Given the description of an element on the screen output the (x, y) to click on. 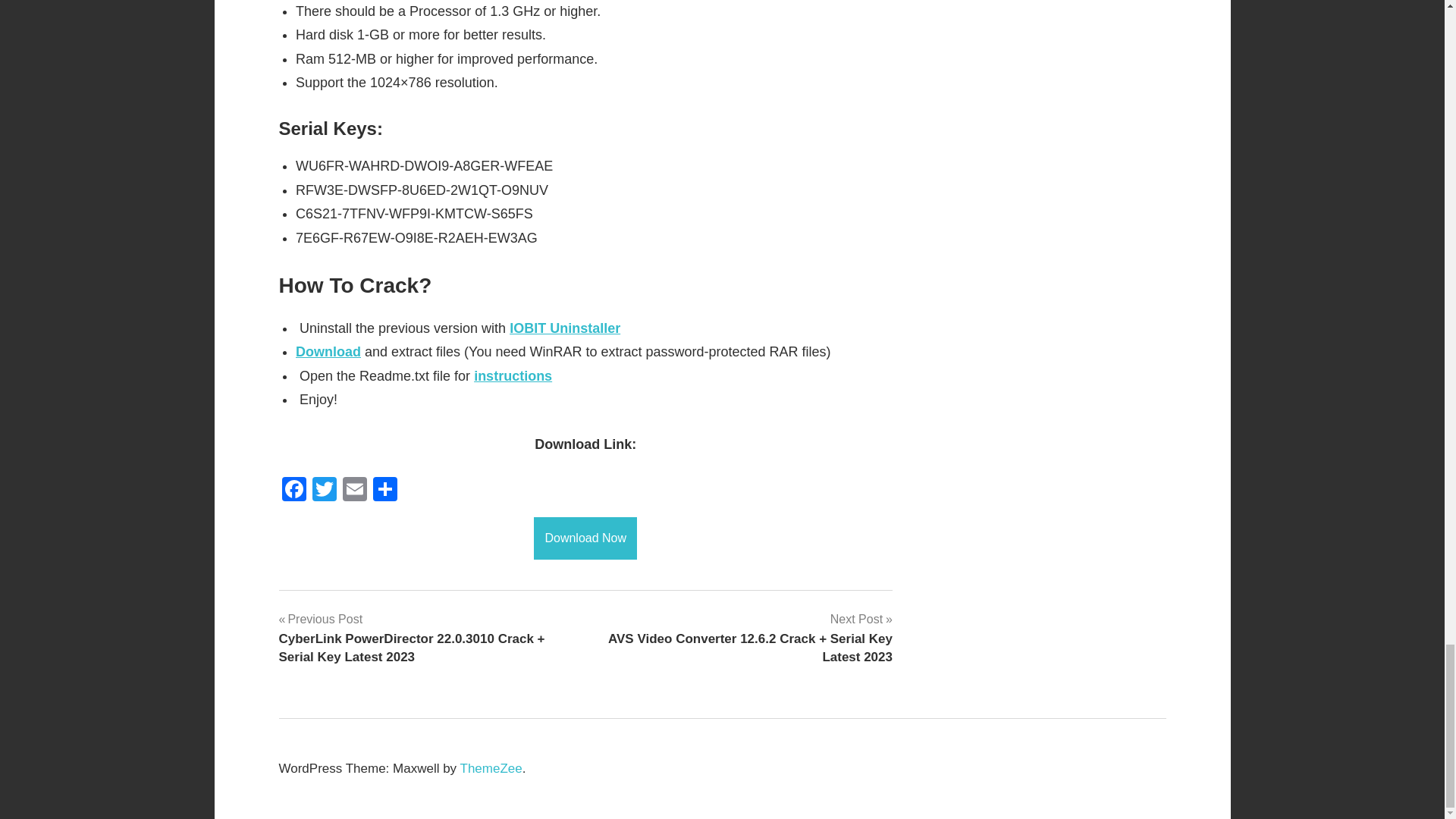
Email (354, 490)
Twitter (323, 490)
instructions (512, 376)
Download Now (585, 537)
Twitter (323, 490)
Facebook (293, 490)
ThemeZee (491, 768)
IOBIT Uninstaller (564, 328)
Download (328, 351)
Email (354, 490)
